Given the description of an element on the screen output the (x, y) to click on. 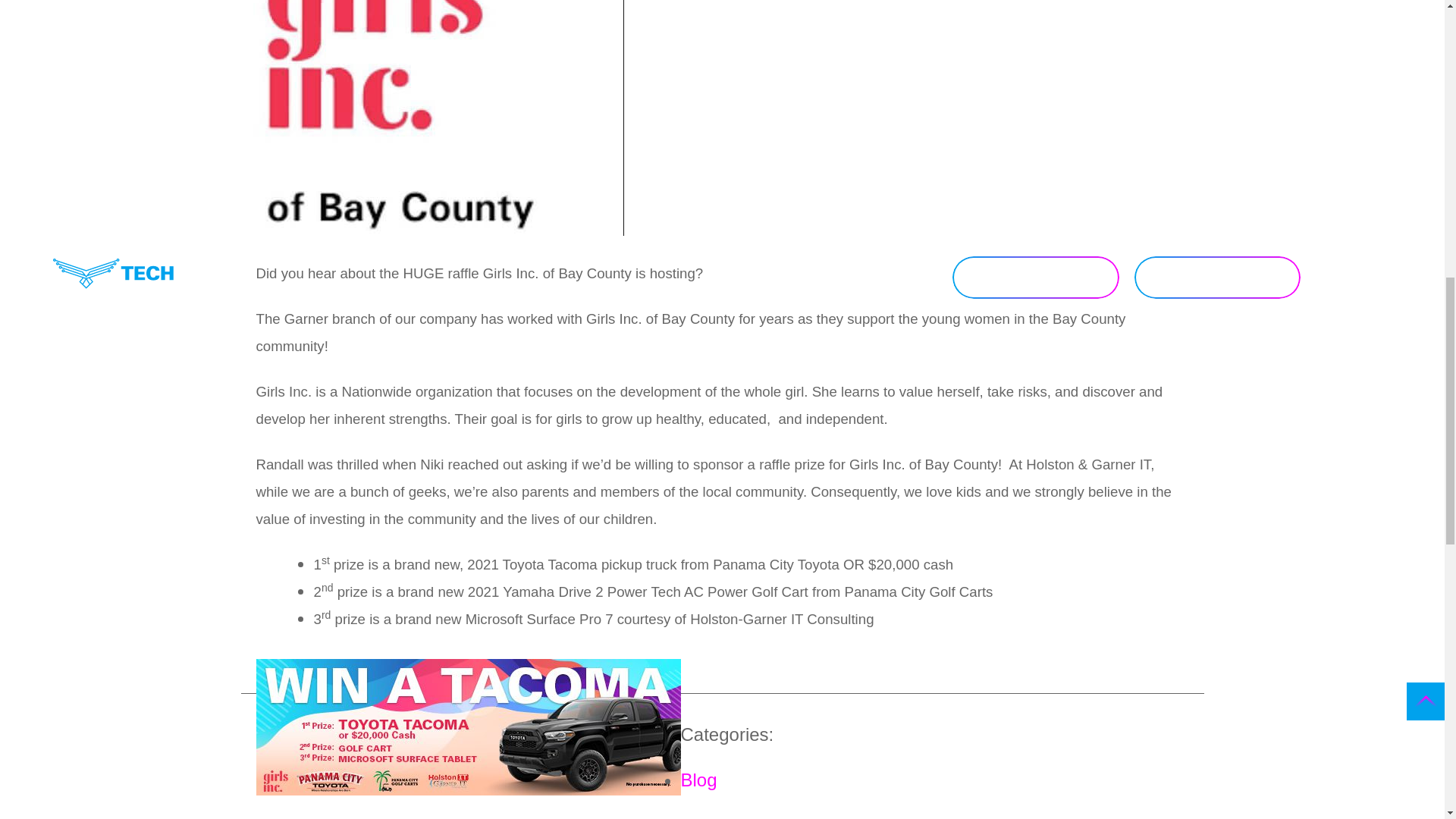
Blog (699, 779)
